Given the description of an element on the screen output the (x, y) to click on. 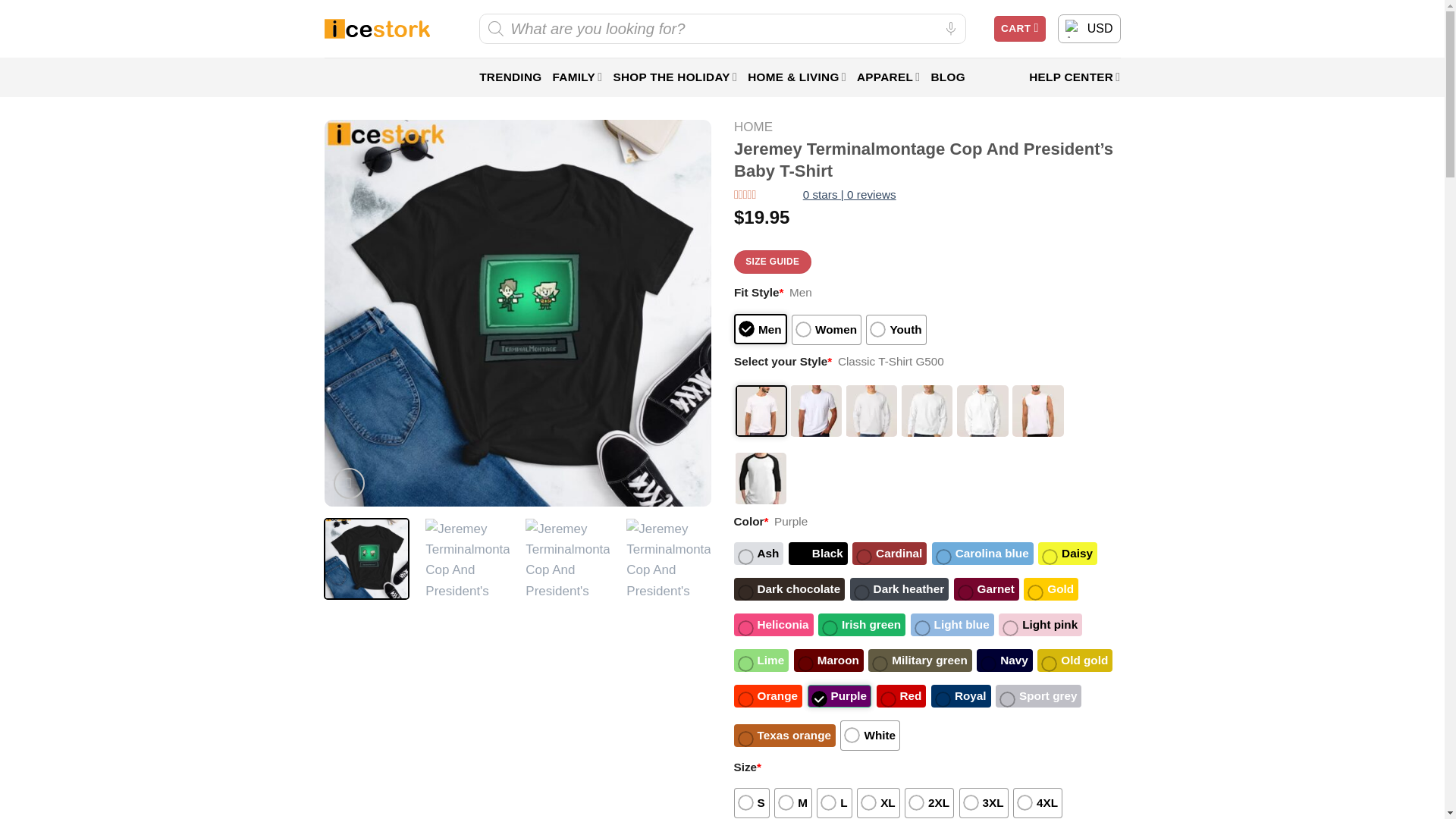
Cart (1019, 28)
FAMILY (576, 77)
HELP CENTER (1074, 77)
SHOP THE HOLIDAY (674, 77)
TRENDING (510, 77)
CART (1019, 28)
Icestork - Best Clothings With Cheap Price (376, 28)
Zoom (348, 482)
APPAREL (888, 77)
Jeremey Terminalmontage Cop And President's Baby T-Shirt 1 (467, 560)
